Given the description of an element on the screen output the (x, y) to click on. 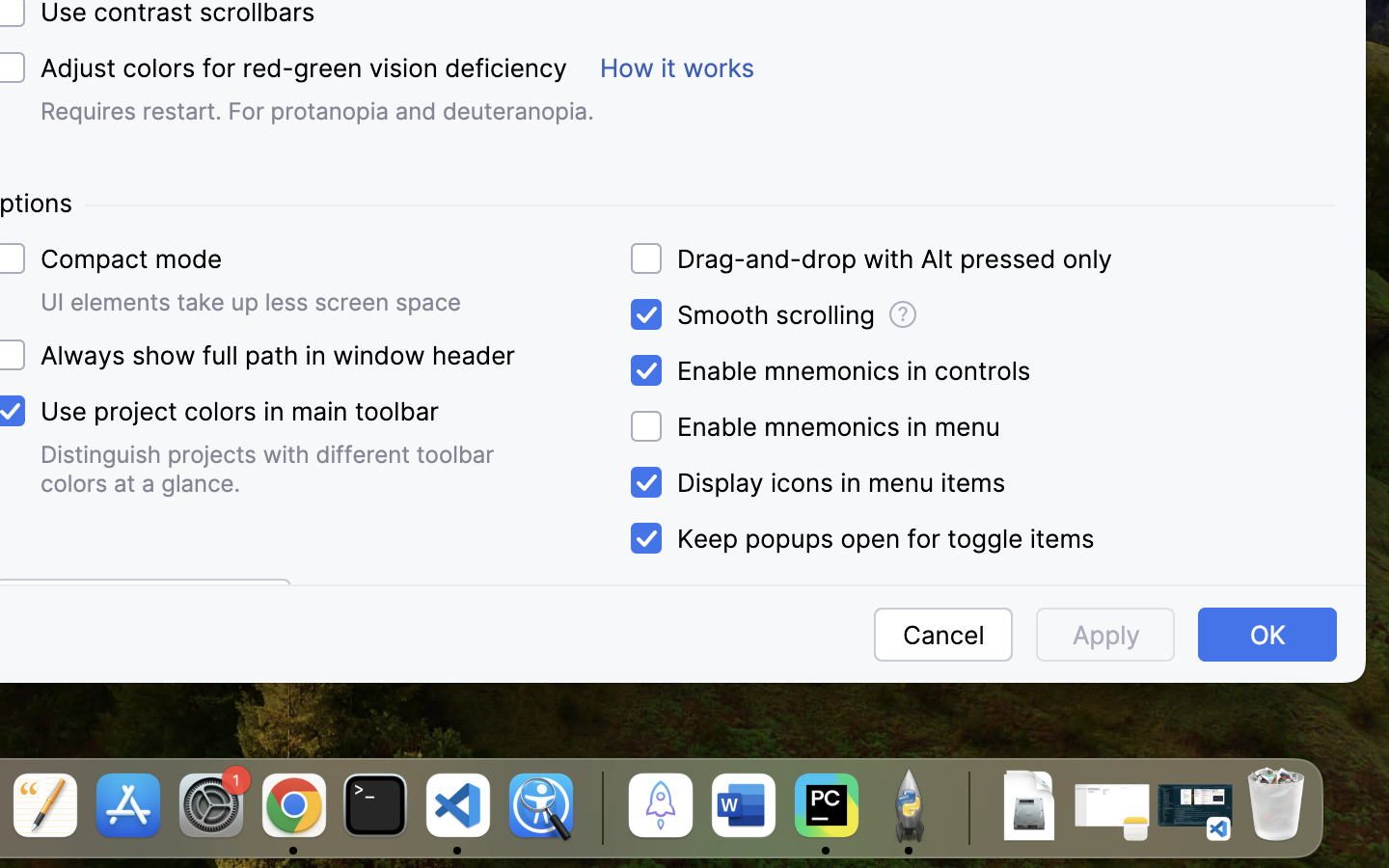
UI elements take up less screen space Element type: AXTextField (250, 301)
